Given the description of an element on the screen output the (x, y) to click on. 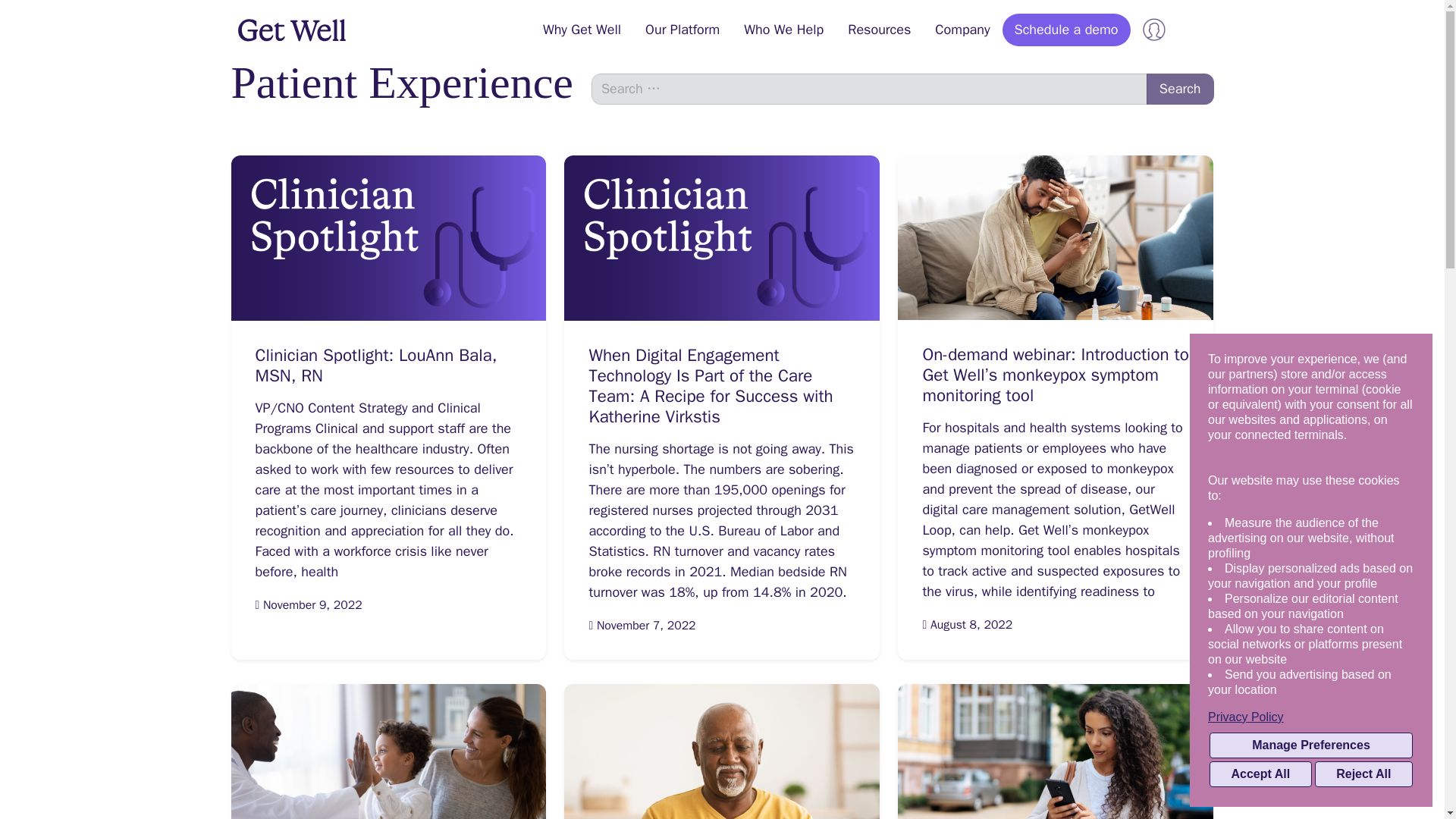
Our Platform (682, 29)
Resources (879, 29)
Search (1180, 88)
Privacy Policy (1310, 717)
Accept All (1260, 774)
Manage Preferences (1310, 745)
Reject All (1363, 774)
Why Get Well (582, 29)
Search (1180, 88)
Why Get Well (582, 29)
Who We Help (783, 29)
Company (962, 29)
Our Platform (682, 29)
